Given the description of an element on the screen output the (x, y) to click on. 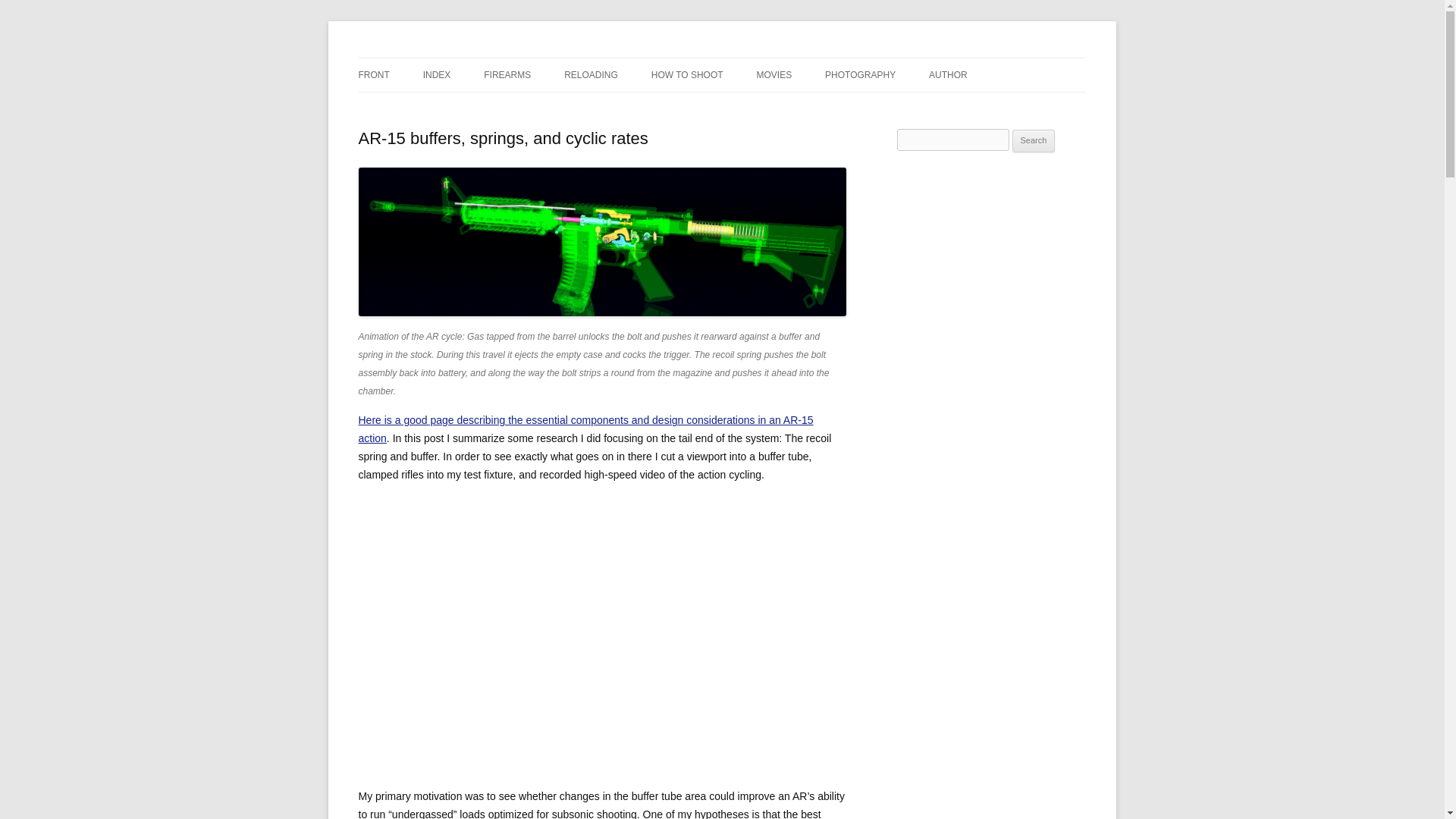
RELOADING (590, 74)
FIREARMS (507, 74)
Search (1033, 140)
David Bookstaber (441, 57)
SAFETY (726, 106)
HOW TO SHOOT (686, 74)
Search (1033, 140)
AUTHOR (948, 74)
David Bookstaber (441, 57)
FRONT (373, 74)
MOVIES (774, 74)
PHOTOGRAPHY (860, 74)
